Given the description of an element on the screen output the (x, y) to click on. 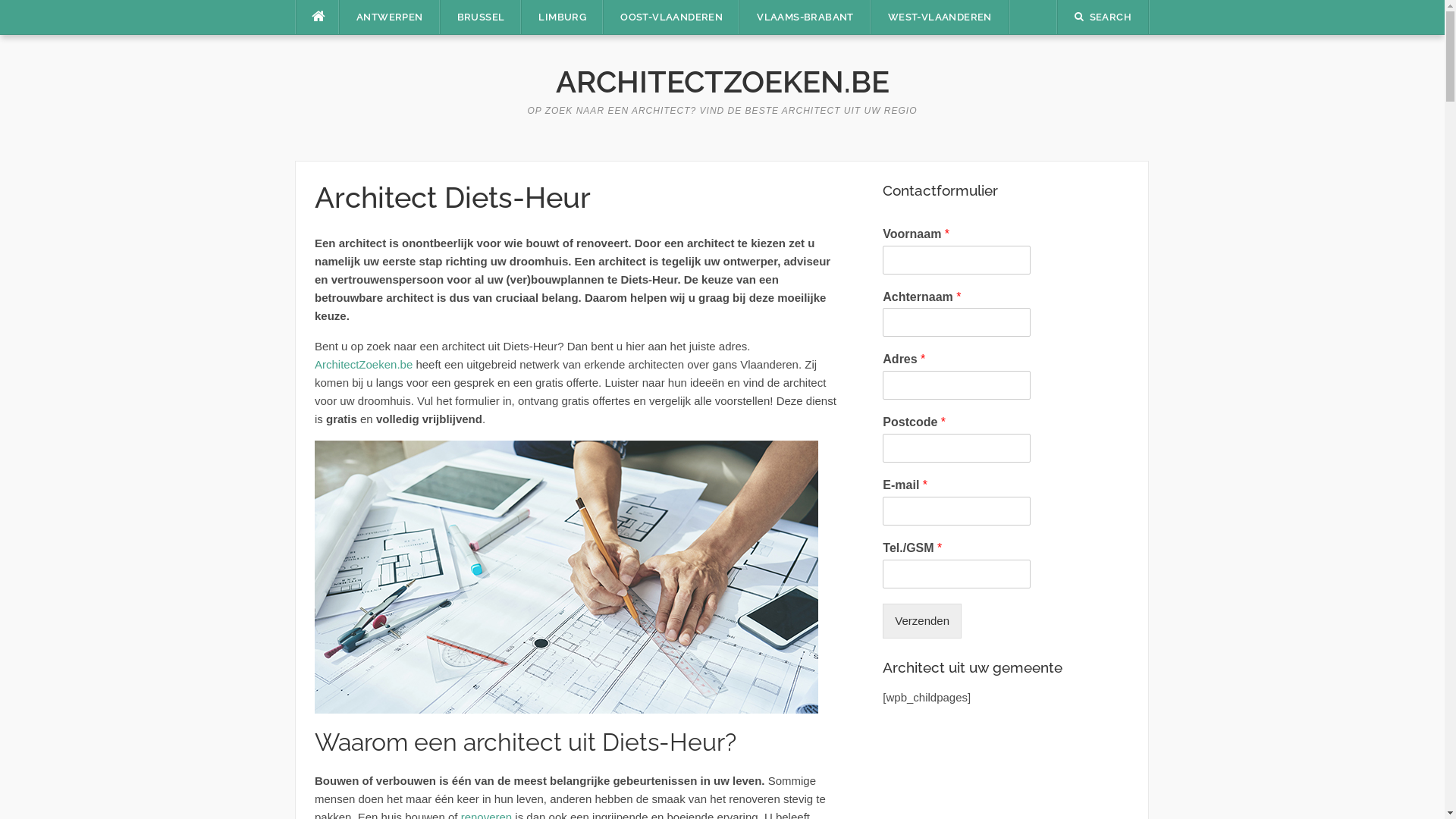
VLAAMS-BRABANT Element type: text (805, 17)
LIMBURG Element type: text (561, 17)
BRUSSEL Element type: text (480, 17)
ARCHITECTZOEKEN.BE Element type: text (721, 81)
SEARCH Element type: text (1102, 16)
ANTWERPEN Element type: text (389, 17)
Verzenden Element type: text (921, 620)
OOST-VLAANDEREN Element type: text (671, 17)
WEST-VLAANDEREN Element type: text (939, 17)
ArchitectZoeken.be Element type: text (363, 363)
